Given the description of an element on the screen output the (x, y) to click on. 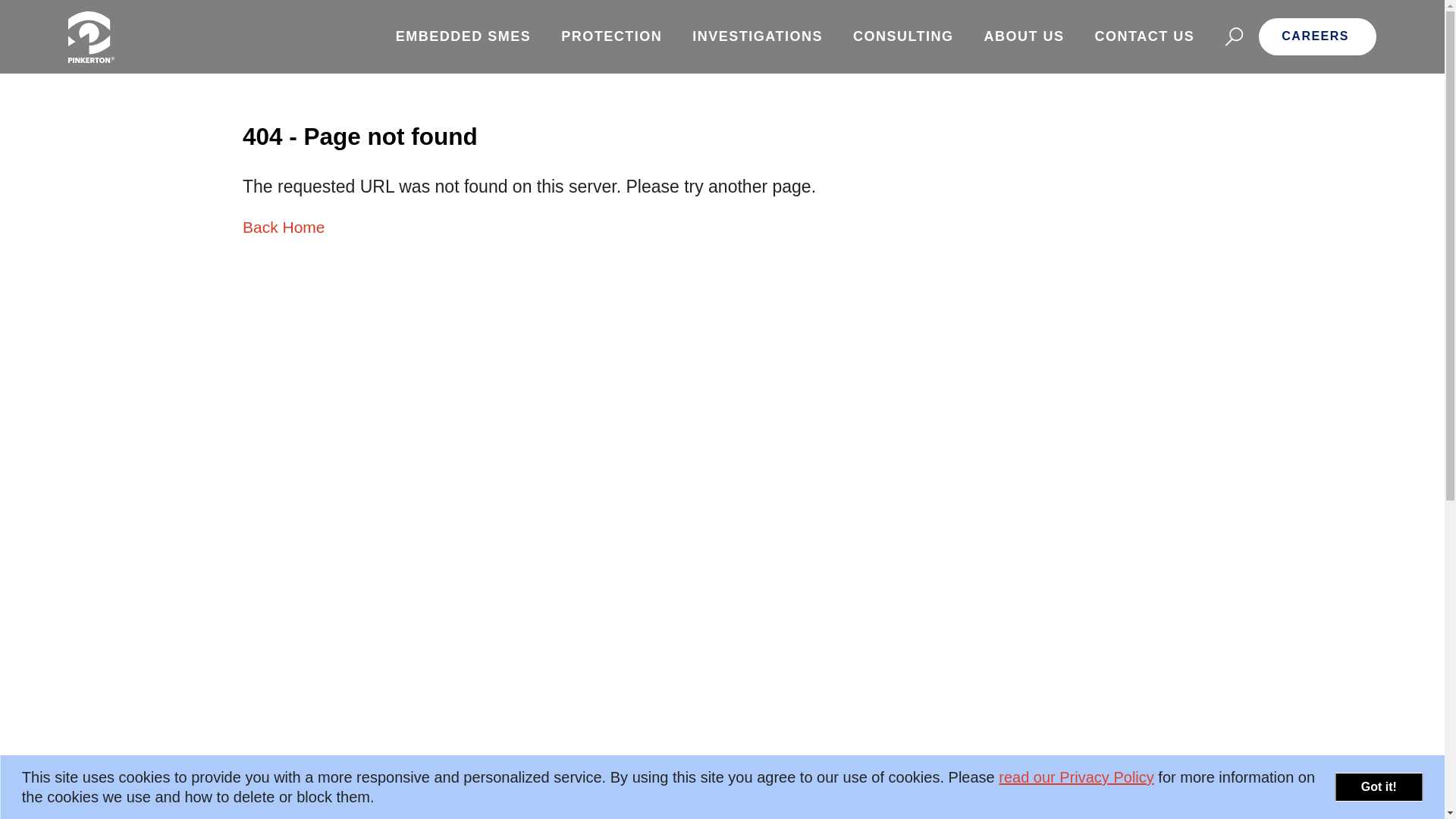
EMBEDDED SMES (463, 36)
PROTECTION (611, 36)
CONTACT US (1144, 36)
ABOUT US (1024, 36)
CONSULTING (903, 36)
INVESTIGATIONS (757, 36)
